Given the description of an element on the screen output the (x, y) to click on. 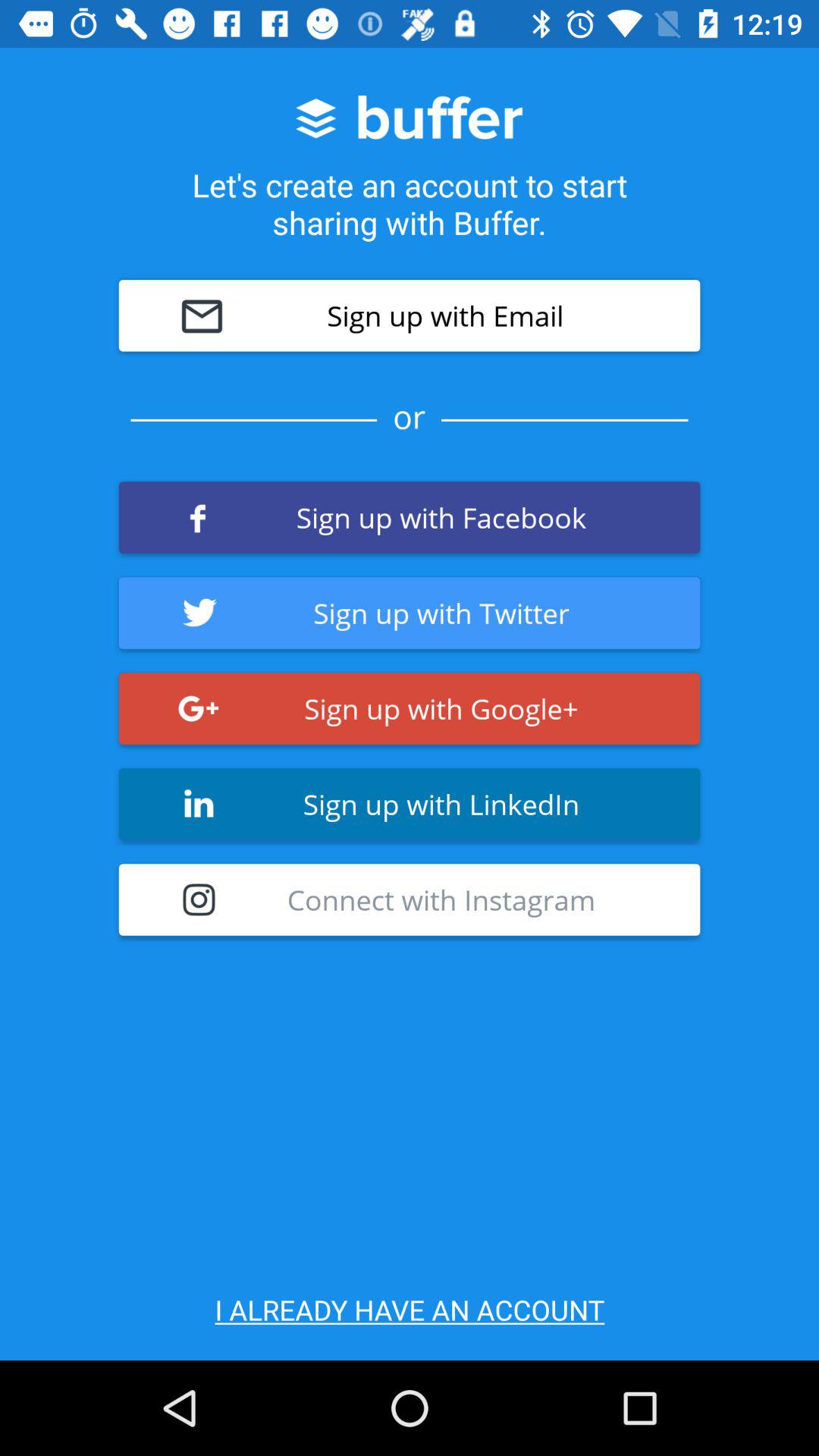
swipe to the i already have (409, 1309)
